Given the description of an element on the screen output the (x, y) to click on. 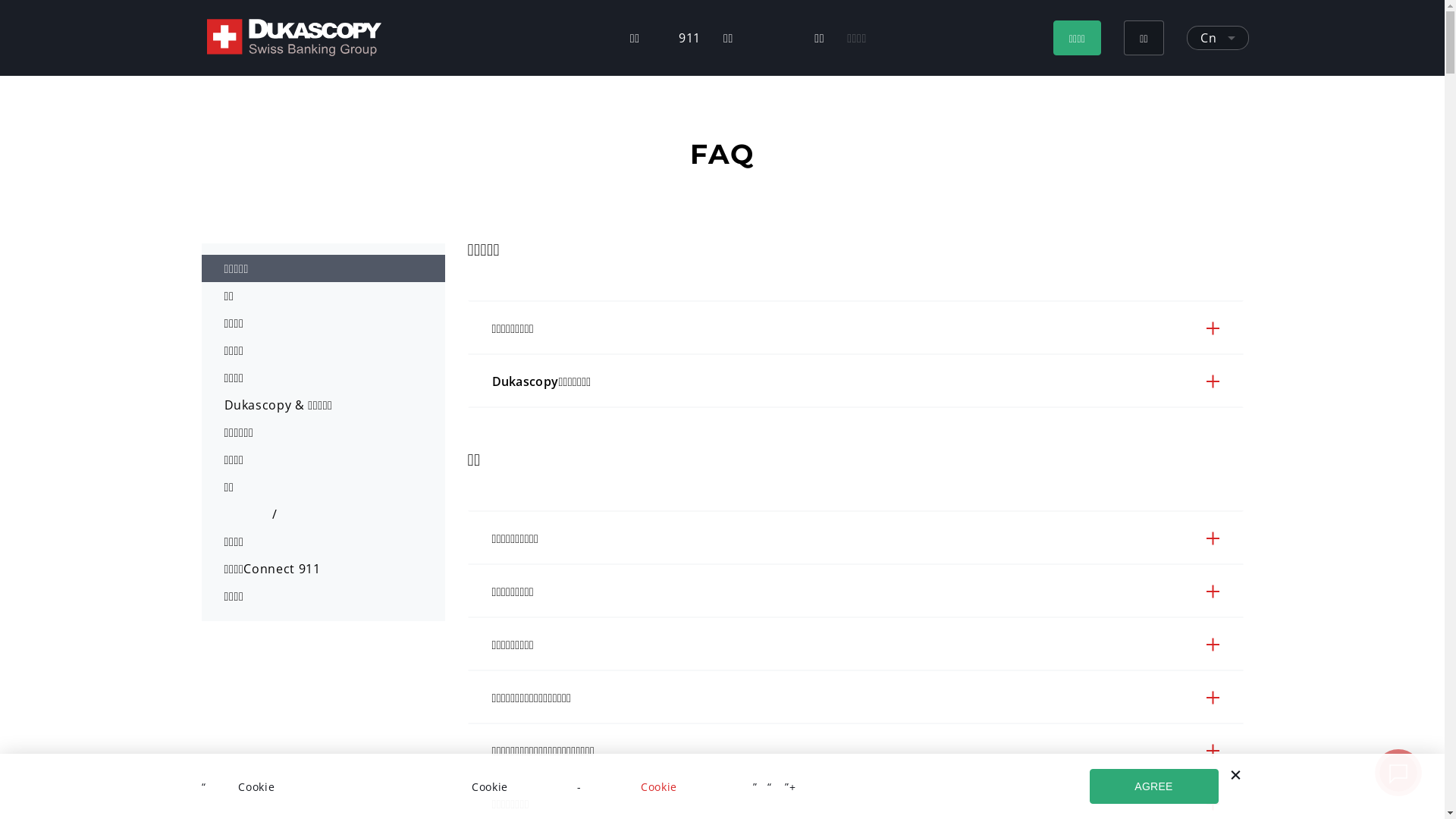
Cookie Element type: text (658, 786)
AGREE Element type: text (1152, 785)
